Given the description of an element on the screen output the (x, y) to click on. 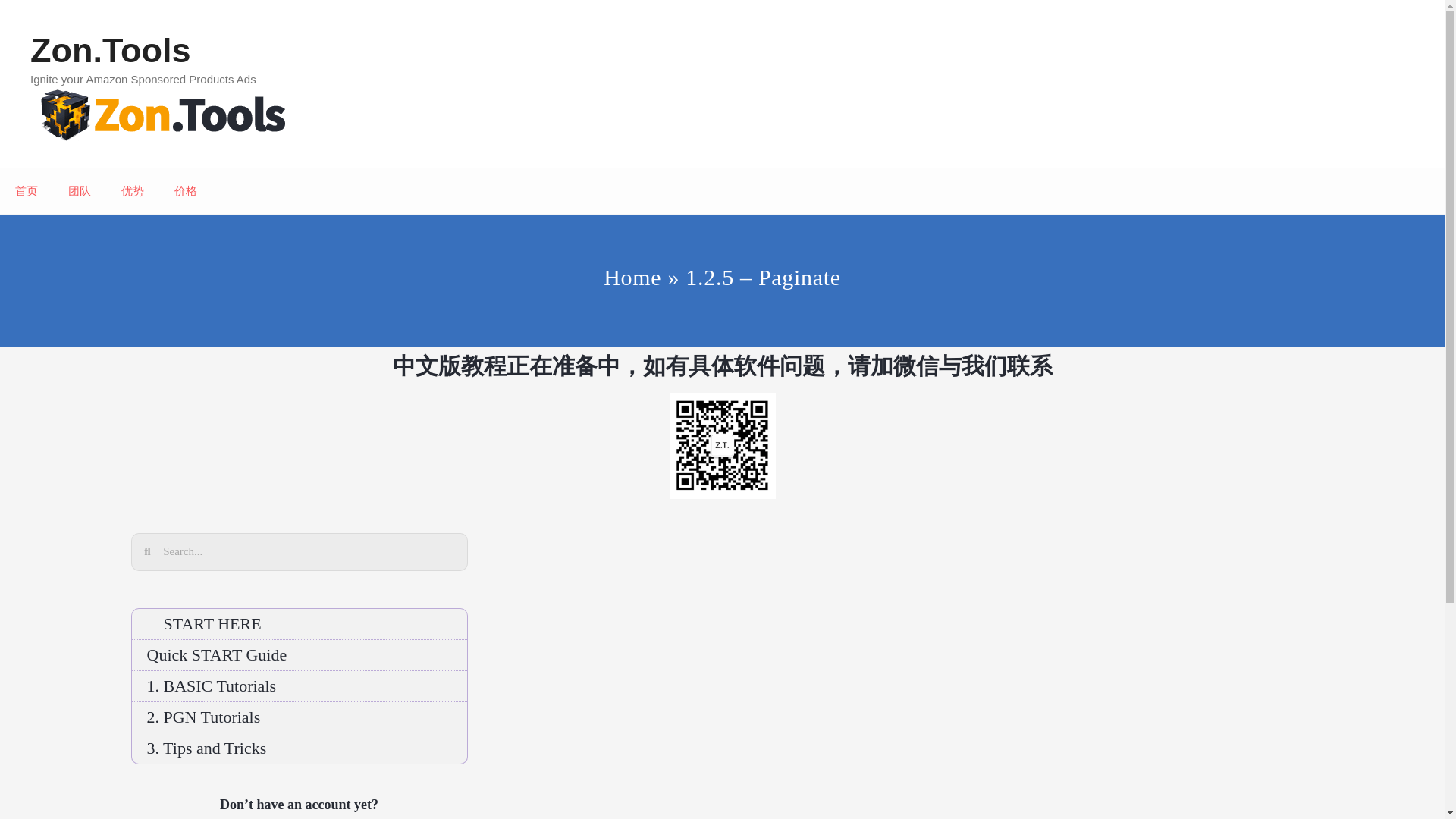
Zon.Tools (110, 50)
1. BASIC Tutorials (299, 685)
Zon.Tools (162, 113)
Search (307, 551)
Zon.Tools (162, 111)
Home (632, 276)
    START HERE (299, 623)
Quick START Guide (299, 654)
